Given the description of an element on the screen output the (x, y) to click on. 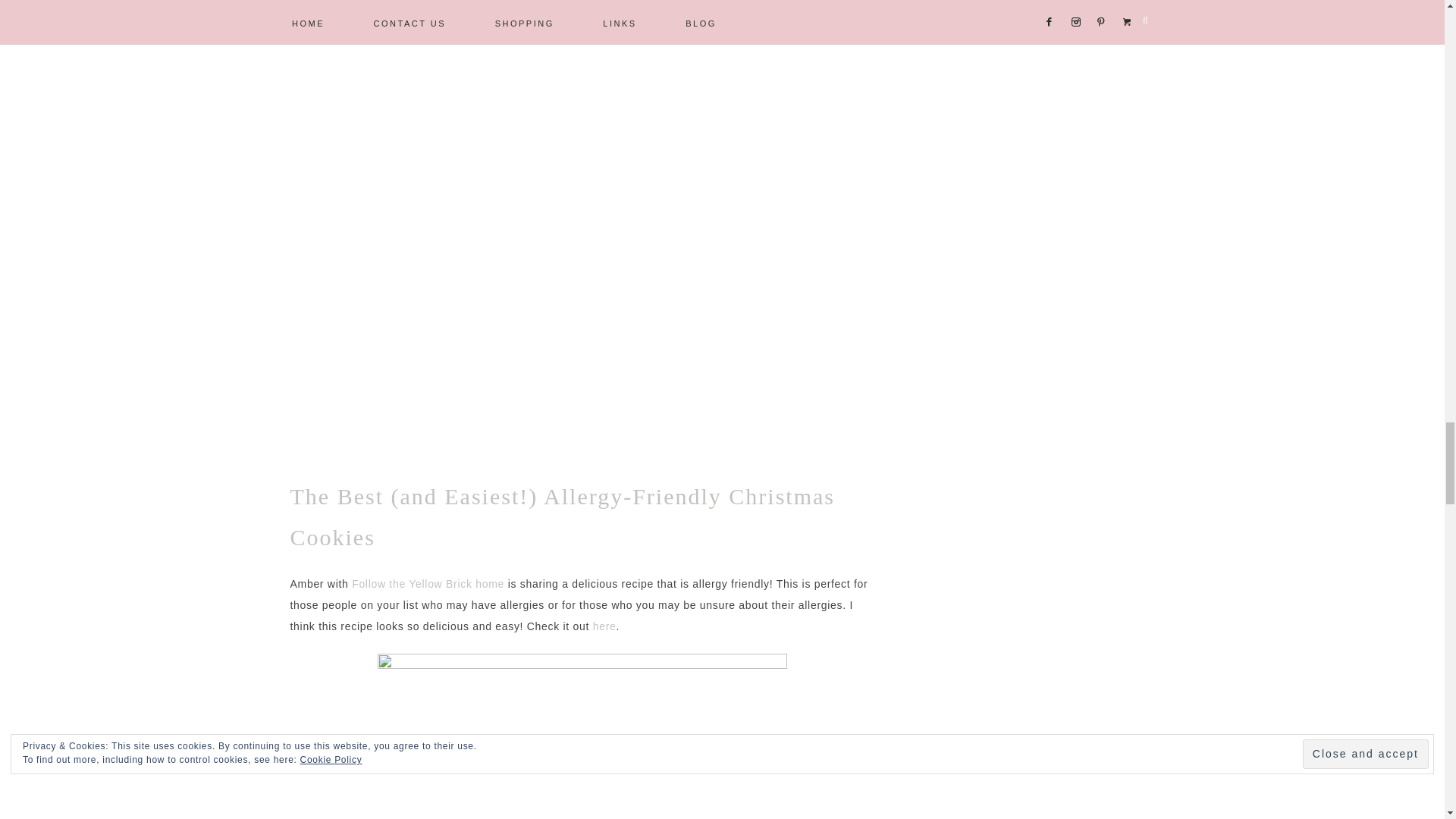
Follow the Yellow Brick home (427, 583)
here (603, 625)
